Given the description of an element on the screen output the (x, y) to click on. 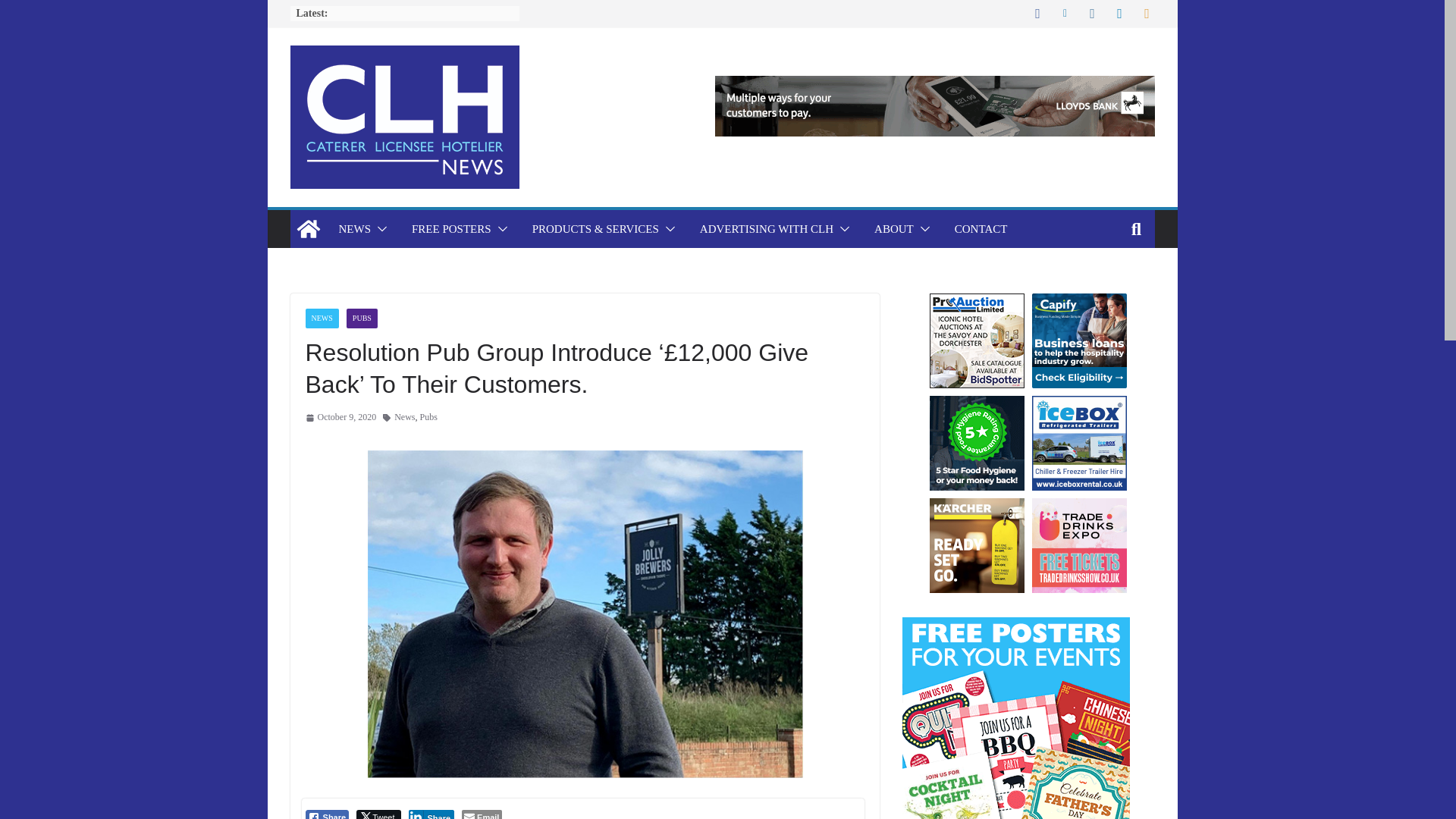
11:51 am (339, 417)
CLH News: Caterer, Licensee and Hotelier News (307, 228)
FREE POSTERS (452, 228)
NEWS (354, 228)
